Given the description of an element on the screen output the (x, y) to click on. 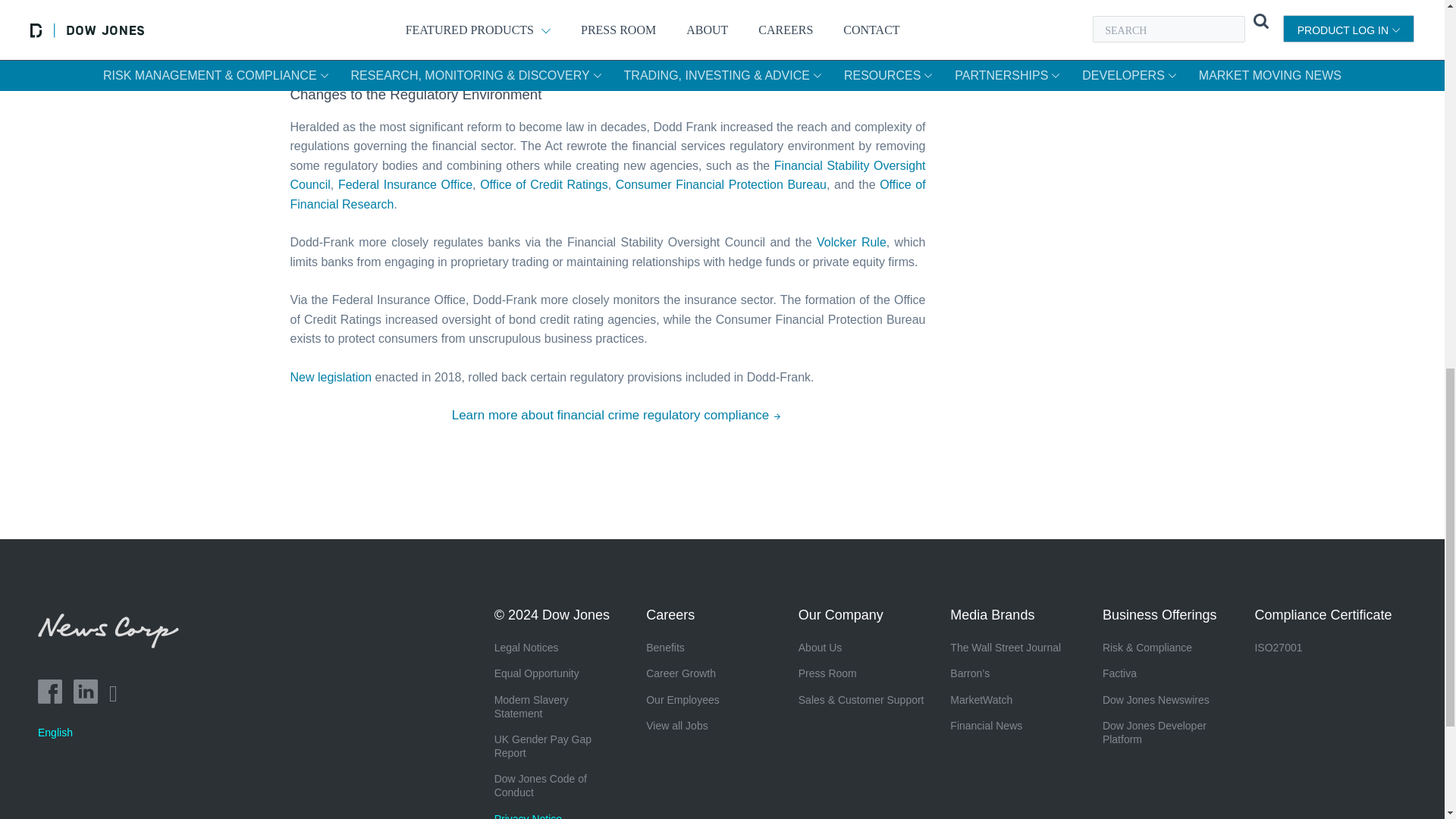
Newscorp (113, 643)
